Given the description of an element on the screen output the (x, y) to click on. 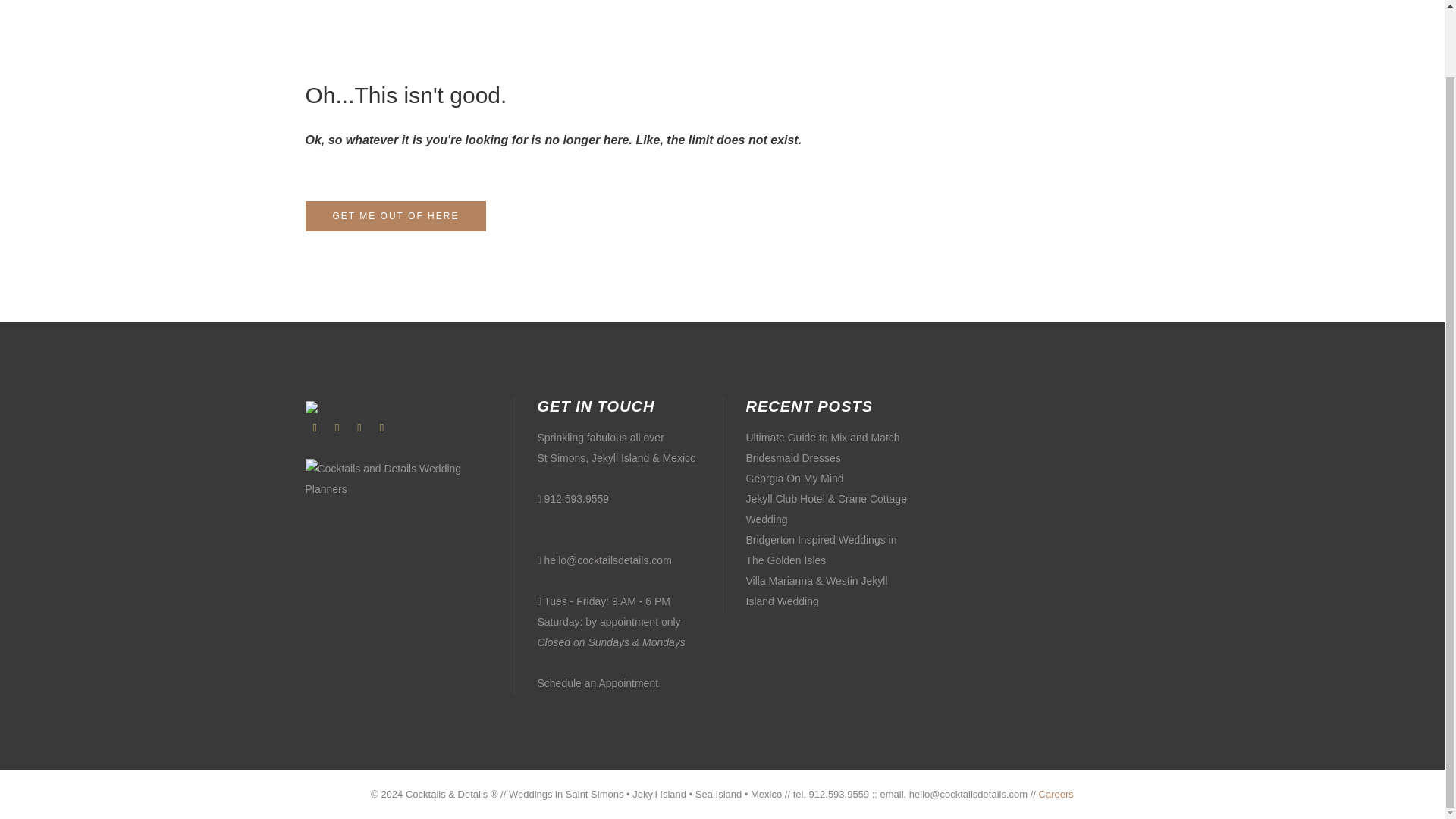
GET ME OUT OF HERE (395, 215)
Careers (1056, 794)
Bridgerton Inspired Weddings in The Golden Isles (826, 549)
Schedule an Appointment (597, 683)
Georgia On My Mind (794, 478)
Ultimate Guide to Mix and Match Bridesmaid Dresses (826, 447)
